Given the description of an element on the screen output the (x, y) to click on. 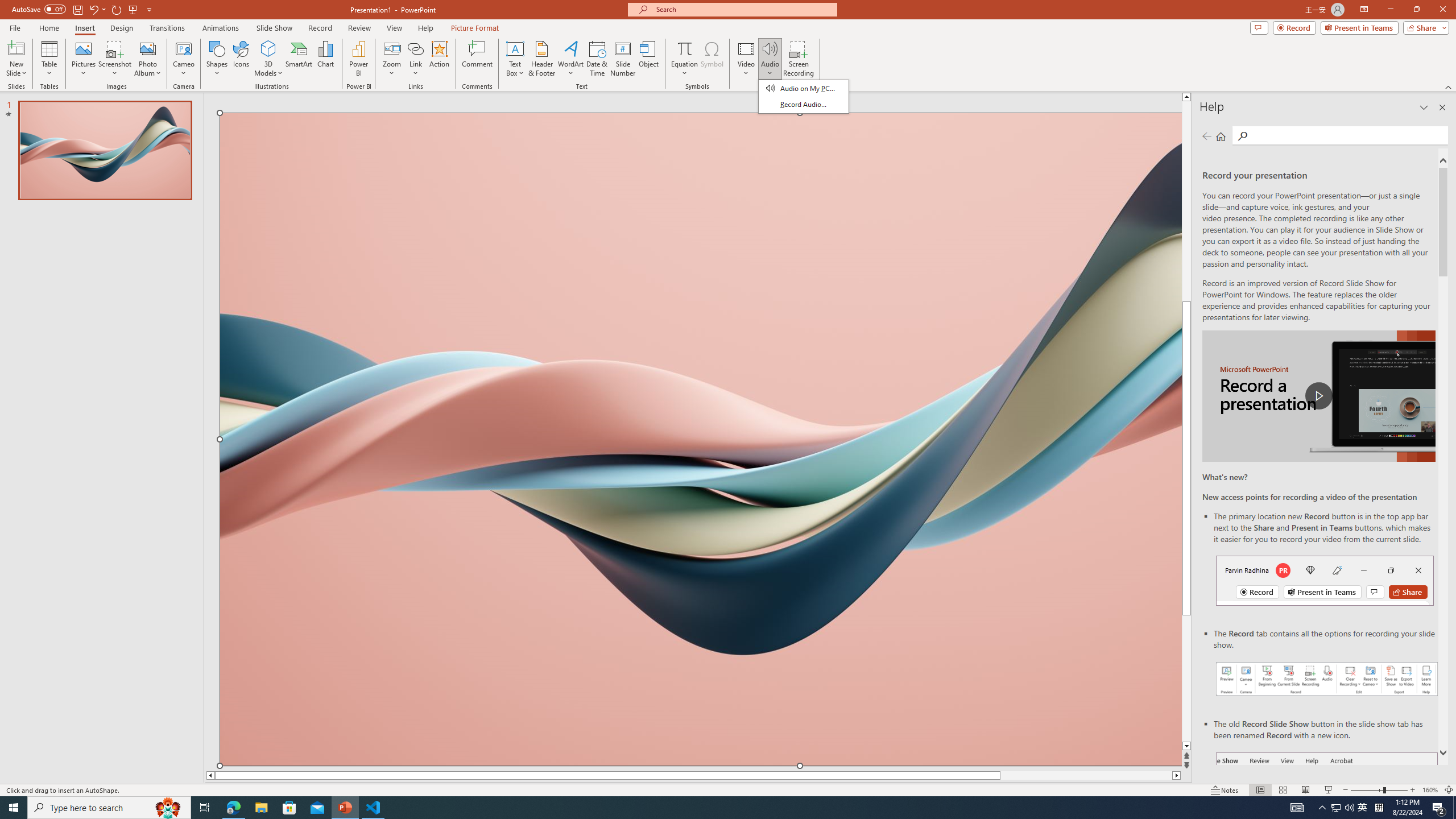
Icons (240, 58)
Draw Horizontal Text Box (515, 48)
New Photo Album... (147, 48)
Record your presentations screenshot one (1326, 678)
